Given the description of an element on the screen output the (x, y) to click on. 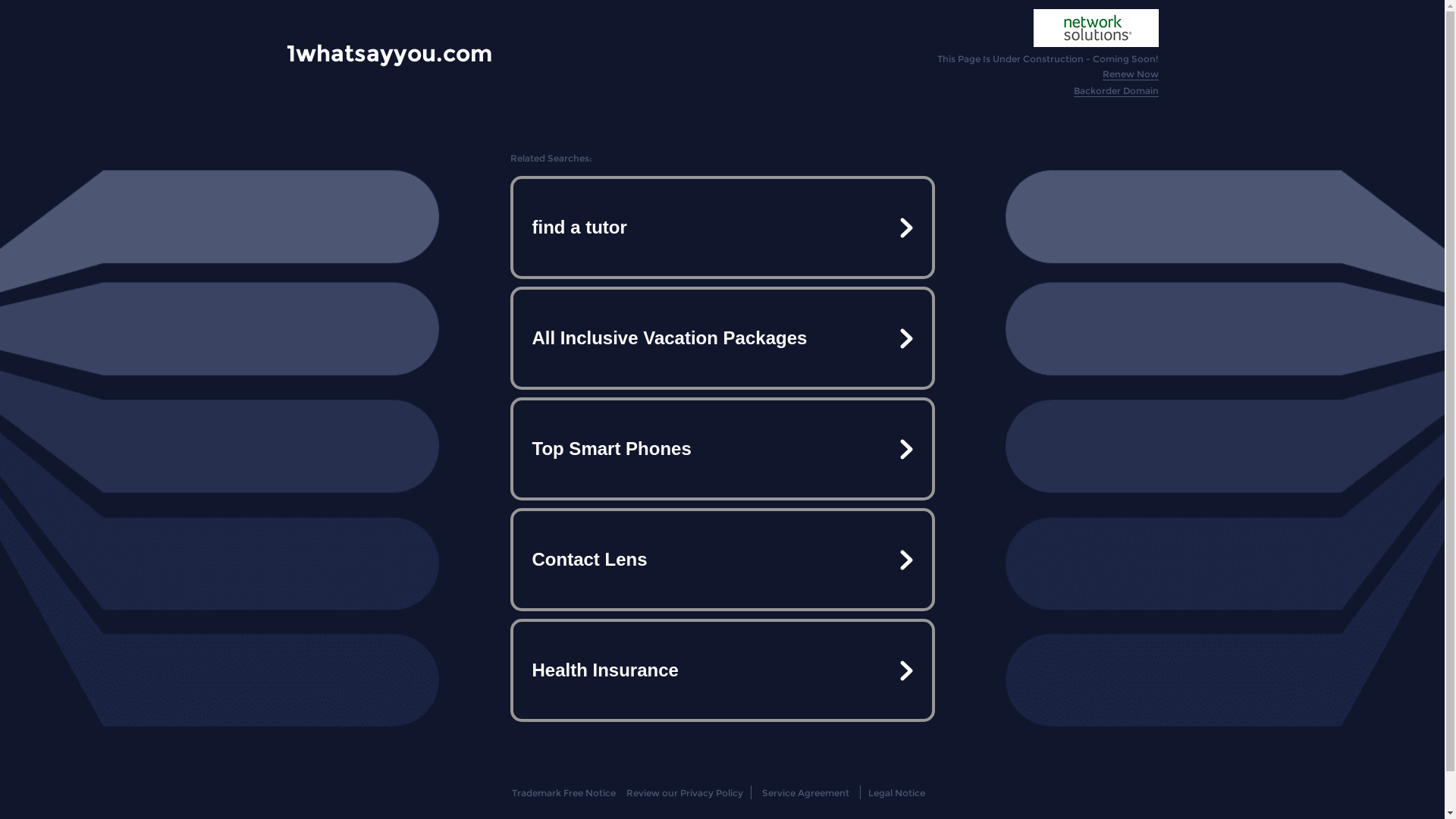
Review our Privacy Policy Element type: text (684, 792)
All Inclusive Vacation Packages Element type: text (721, 337)
Service Agreement Element type: text (805, 792)
Renew Now Element type: text (1130, 74)
Contact Lens Element type: text (721, 559)
Top Smart Phones Element type: text (721, 448)
1whatsayyou.com Element type: text (389, 53)
Trademark Free Notice Element type: text (563, 792)
Health Insurance Element type: text (721, 669)
find a tutor Element type: text (721, 227)
Backorder Domain Element type: text (1115, 90)
Legal Notice Element type: text (896, 792)
